Given the description of an element on the screen output the (x, y) to click on. 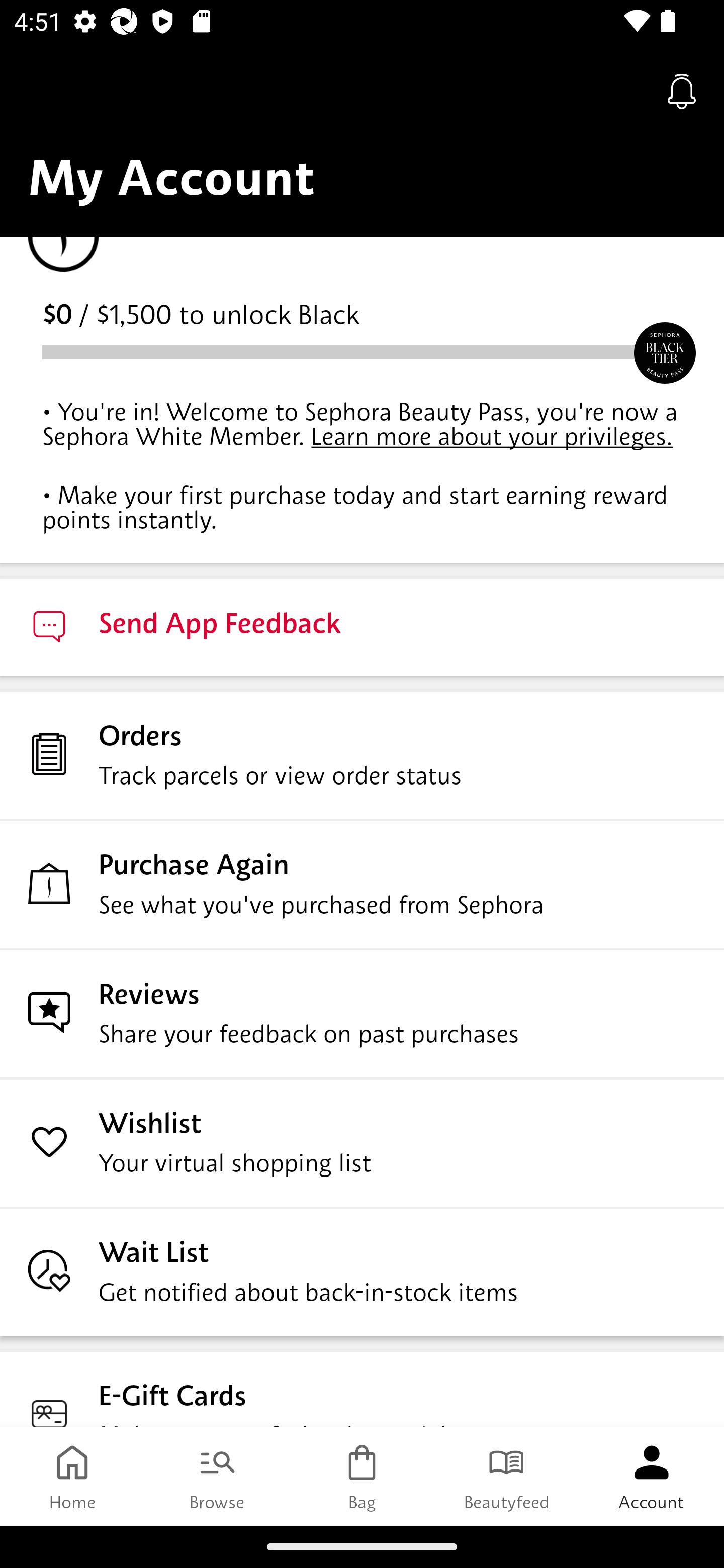
Notifications (681, 90)
Send App Feedback (362, 626)
Orders Track parcels or view order status (362, 753)
Reviews Share your feedback on past purchases (362, 1012)
Wishlist Your virtual shopping list (362, 1142)
Wait List Get notified about back-in-stock items (362, 1271)
E-Gift Cards Make someone feel truly special (362, 1388)
Home (72, 1475)
Browse (216, 1475)
Bag (361, 1475)
Beautyfeed (506, 1475)
